Given the description of an element on the screen output the (x, y) to click on. 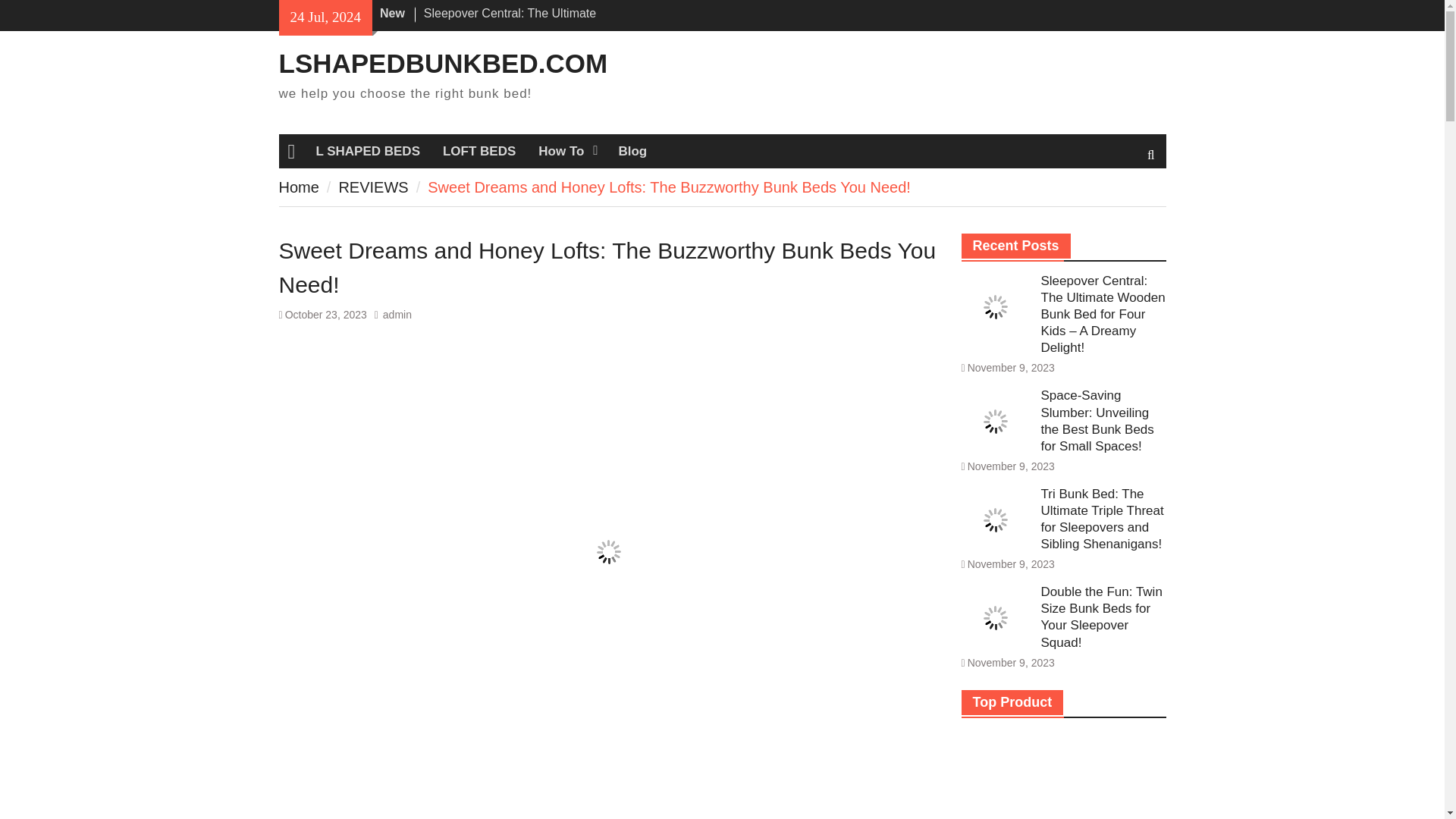
LOFT BEDS (478, 150)
How To (567, 150)
Blog (632, 150)
admin (397, 314)
LSHAPEDBUNKBED.COM (443, 62)
October 23, 2023 (325, 314)
REVIEWS (372, 187)
Home (298, 187)
L SHAPED BEDS (367, 150)
